Given the description of an element on the screen output the (x, y) to click on. 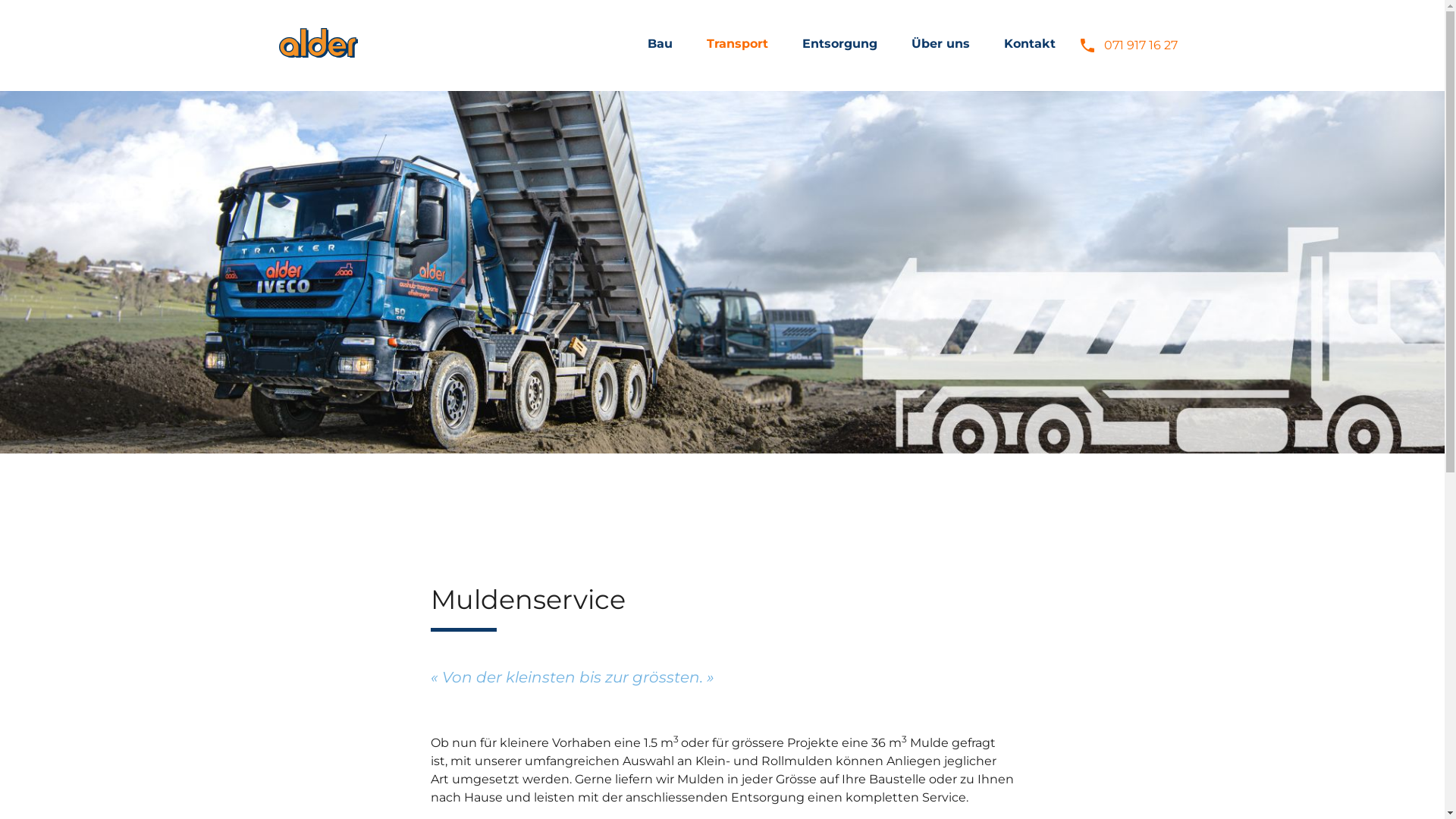
phone
071 917 16 27 Element type: text (1127, 45)
Entsorgung Element type: text (839, 43)
chevron_right Element type: text (705, 43)
Kontakt Element type: text (1029, 43)
chevron_right Element type: text (646, 43)
Bau Element type: text (659, 43)
Transport Element type: text (737, 43)
alder AG Element type: hover (318, 53)
chevron_right Element type: text (910, 43)
